Given the description of an element on the screen output the (x, y) to click on. 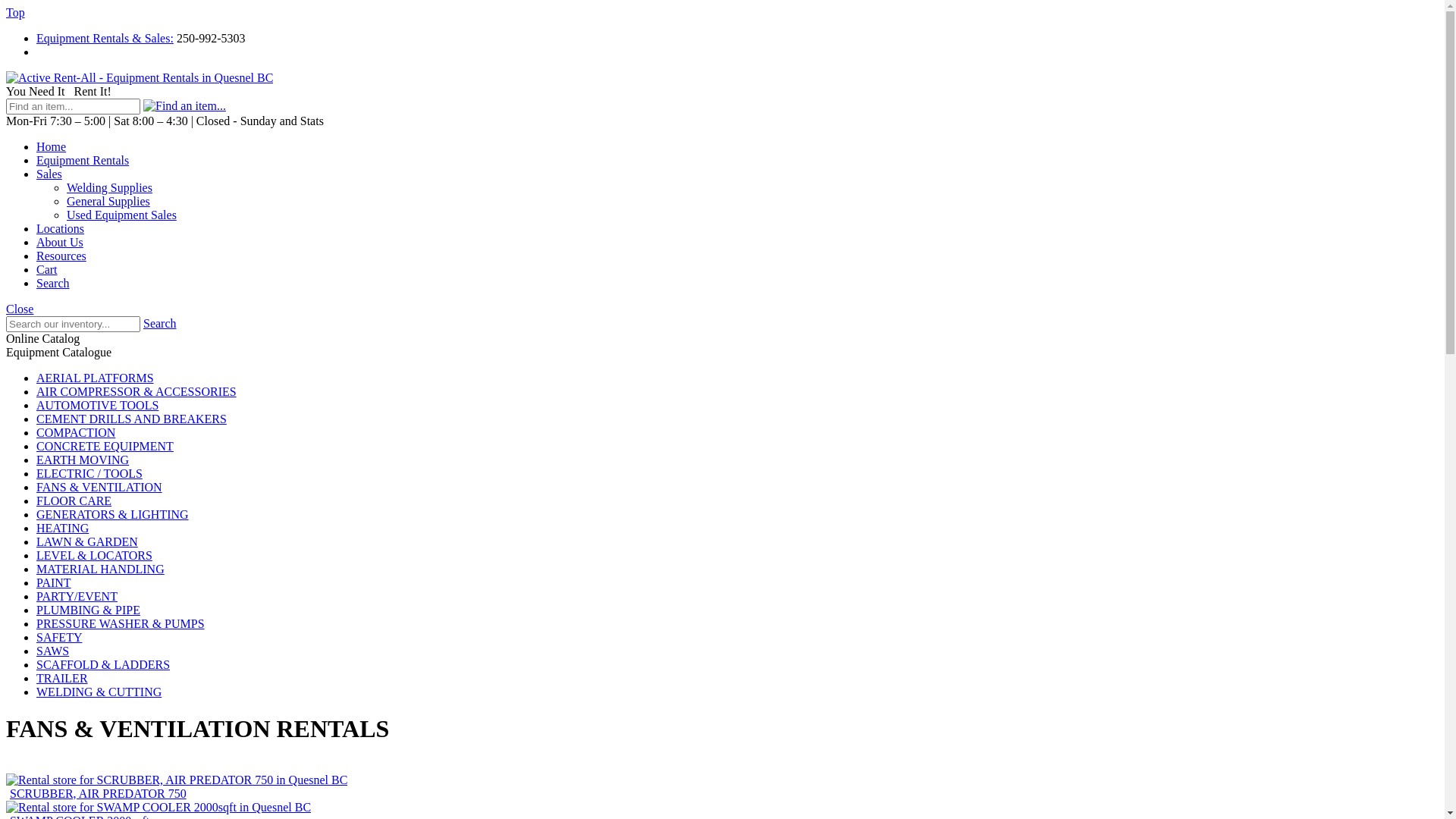
CONCRETE EQUIPMENT Element type: text (104, 445)
HEATING Element type: text (62, 527)
Equipment Rentals Element type: text (82, 159)
WELDING & CUTTING Element type: text (98, 691)
Search Element type: text (159, 322)
General Supplies Element type: text (108, 200)
EARTH MOVING Element type: text (82, 459)
Top Element type: text (15, 12)
FANS & VENTILATION Element type: text (99, 486)
ELECTRIC / TOOLS Element type: text (89, 473)
AUTOMOTIVE TOOLS Element type: text (97, 404)
Welding Supplies Element type: text (109, 187)
SAFETY Element type: text (58, 636)
Used Equipment Sales Element type: text (121, 214)
MATERIAL HANDLING Element type: text (100, 568)
Sales Element type: text (49, 173)
CEMENT DRILLS AND BREAKERS Element type: text (131, 418)
SCAFFOLD & LADDERS Element type: text (102, 664)
PLUMBING & PIPE Element type: text (88, 609)
AIR COMPRESSOR & ACCESSORIES Element type: text (136, 391)
Locations Element type: text (60, 228)
Search Element type: text (52, 282)
Close Element type: text (19, 308)
Find an item... Element type: hover (184, 105)
Cart Element type: text (46, 269)
COMPACTION Element type: text (75, 432)
LEVEL & LOCATORS Element type: text (94, 555)
About Us Element type: text (59, 241)
Resources Element type: text (61, 255)
AERIAL PLATFORMS Element type: text (94, 377)
PAINT Element type: text (53, 582)
SCRUBBER, AIR PREDATOR 750 Element type: text (97, 793)
PARTY/EVENT Element type: text (76, 595)
Equipment Rentals & Sales: Element type: text (104, 37)
GENERATORS & LIGHTING Element type: text (112, 514)
PRESSURE WASHER & PUMPS Element type: text (120, 623)
TRAILER Element type: text (61, 677)
LAWN & GARDEN Element type: text (87, 541)
Home Element type: text (50, 146)
SAWS Element type: text (52, 650)
FLOOR CARE Element type: text (73, 500)
